Given the description of an element on the screen output the (x, y) to click on. 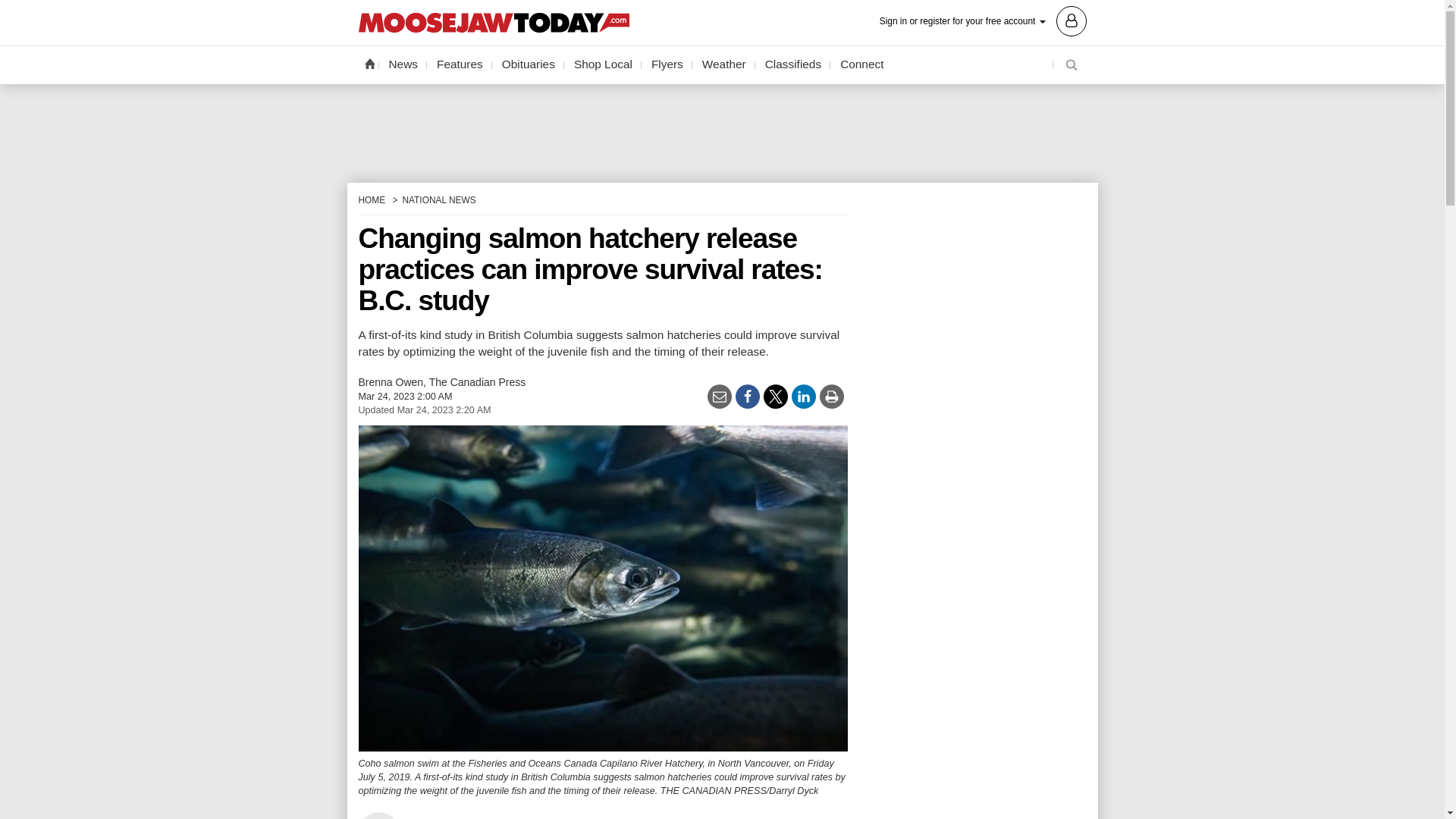
Obituaries (528, 64)
News (403, 64)
Home (368, 63)
Shop Local (603, 64)
Flyers (667, 64)
Sign in or register for your free account (982, 20)
